Given the description of an element on the screen output the (x, y) to click on. 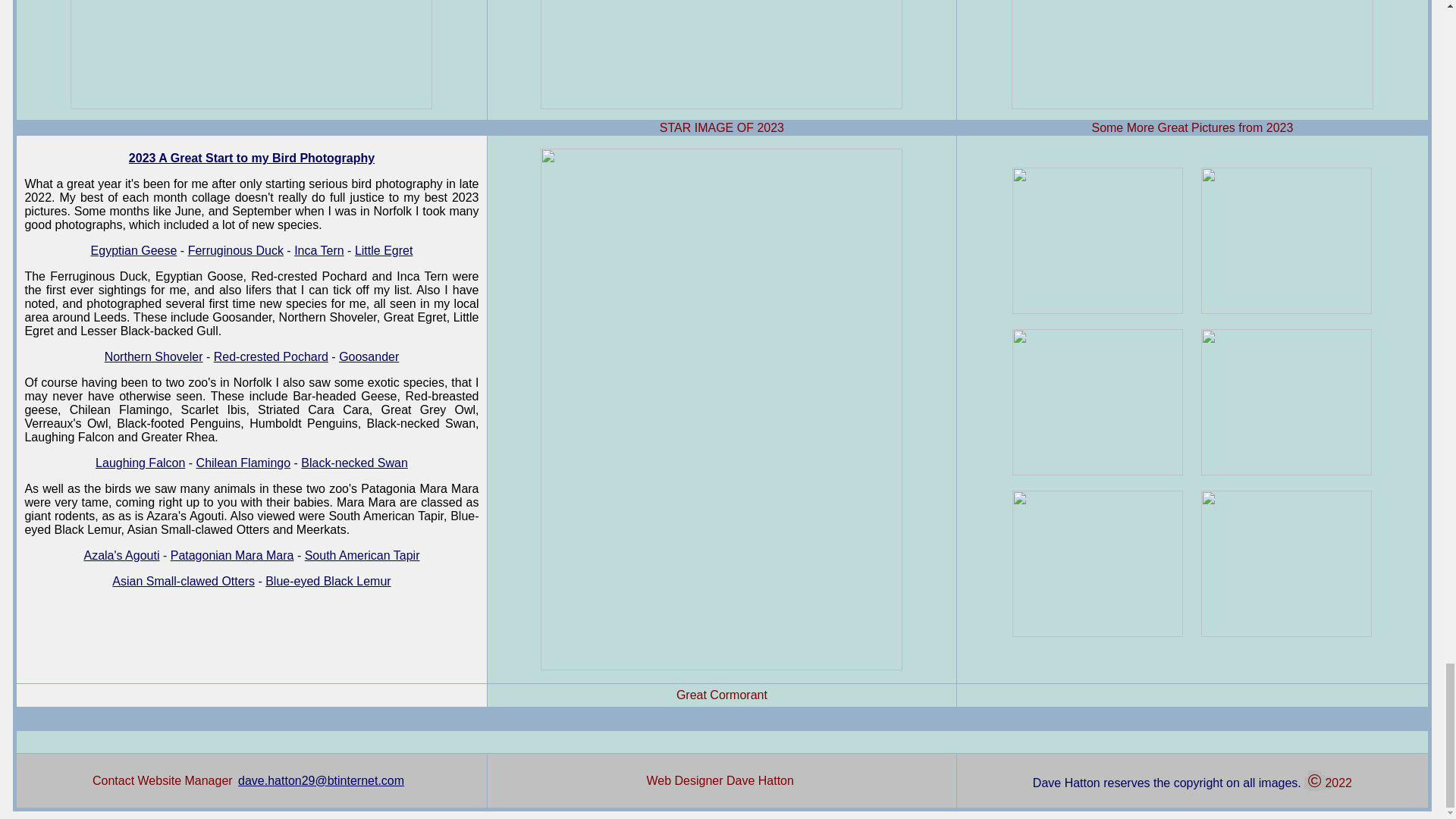
Egyptian Geese (133, 250)
Azala's Agouti (120, 554)
Chilean Flamingo (243, 462)
Asian Small-clawed Otters (183, 581)
Inca Tern (318, 250)
Patagonian Mara Mara (232, 554)
Blue-eyed Black Lemur (327, 581)
Goosander (368, 356)
Ferruginous Duck (235, 250)
Laughing Falcon (140, 462)
